Given the description of an element on the screen output the (x, y) to click on. 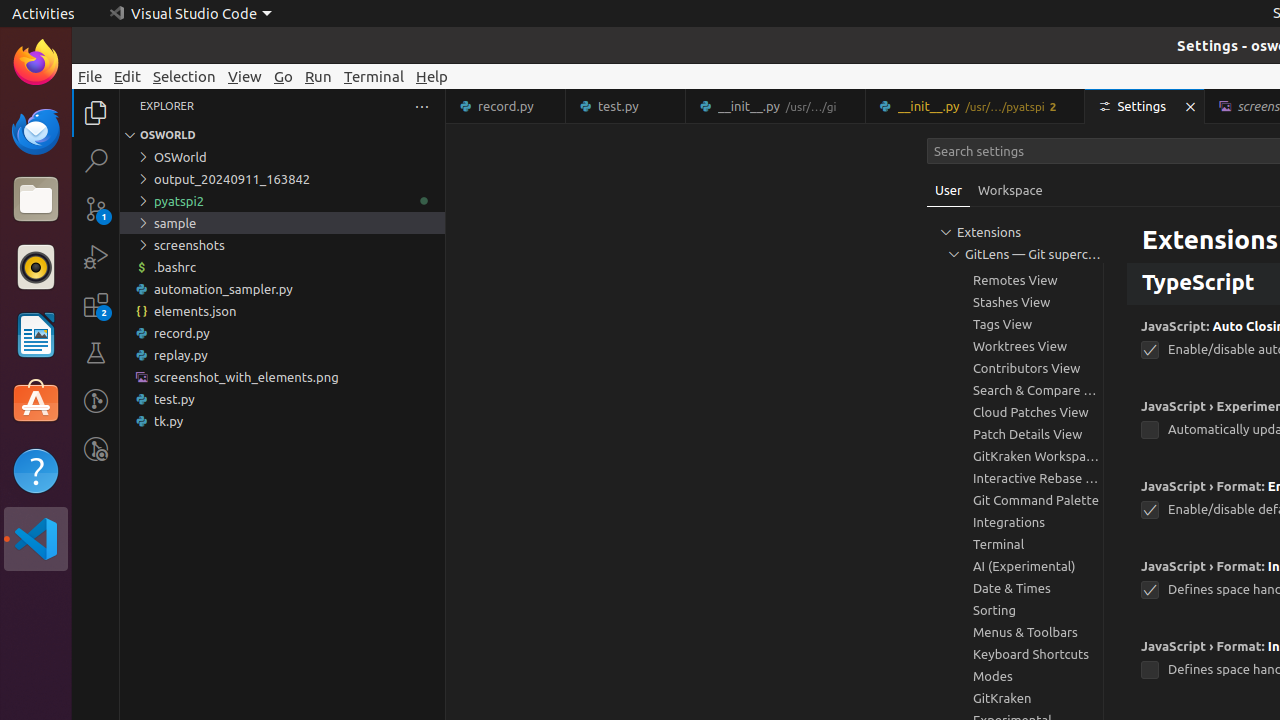
GitKraken, group Element type: tree-item (1015, 698)
replay.py Element type: tree-item (282, 355)
Settings Element type: page-tab (1145, 106)
Worktrees View, group Element type: tree-item (1015, 346)
